Given the description of an element on the screen output the (x, y) to click on. 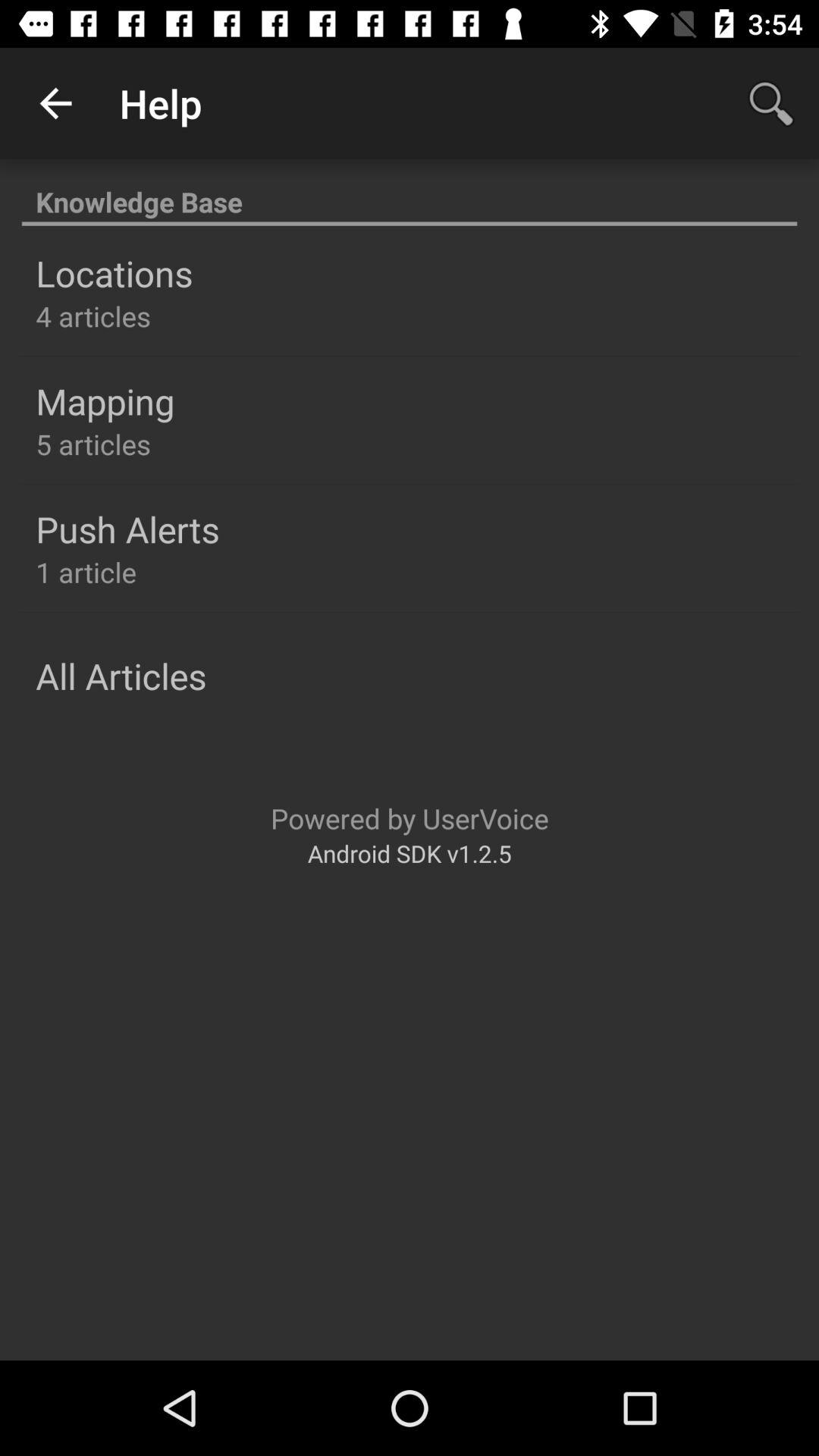
click locations icon (113, 273)
